Given the description of an element on the screen output the (x, y) to click on. 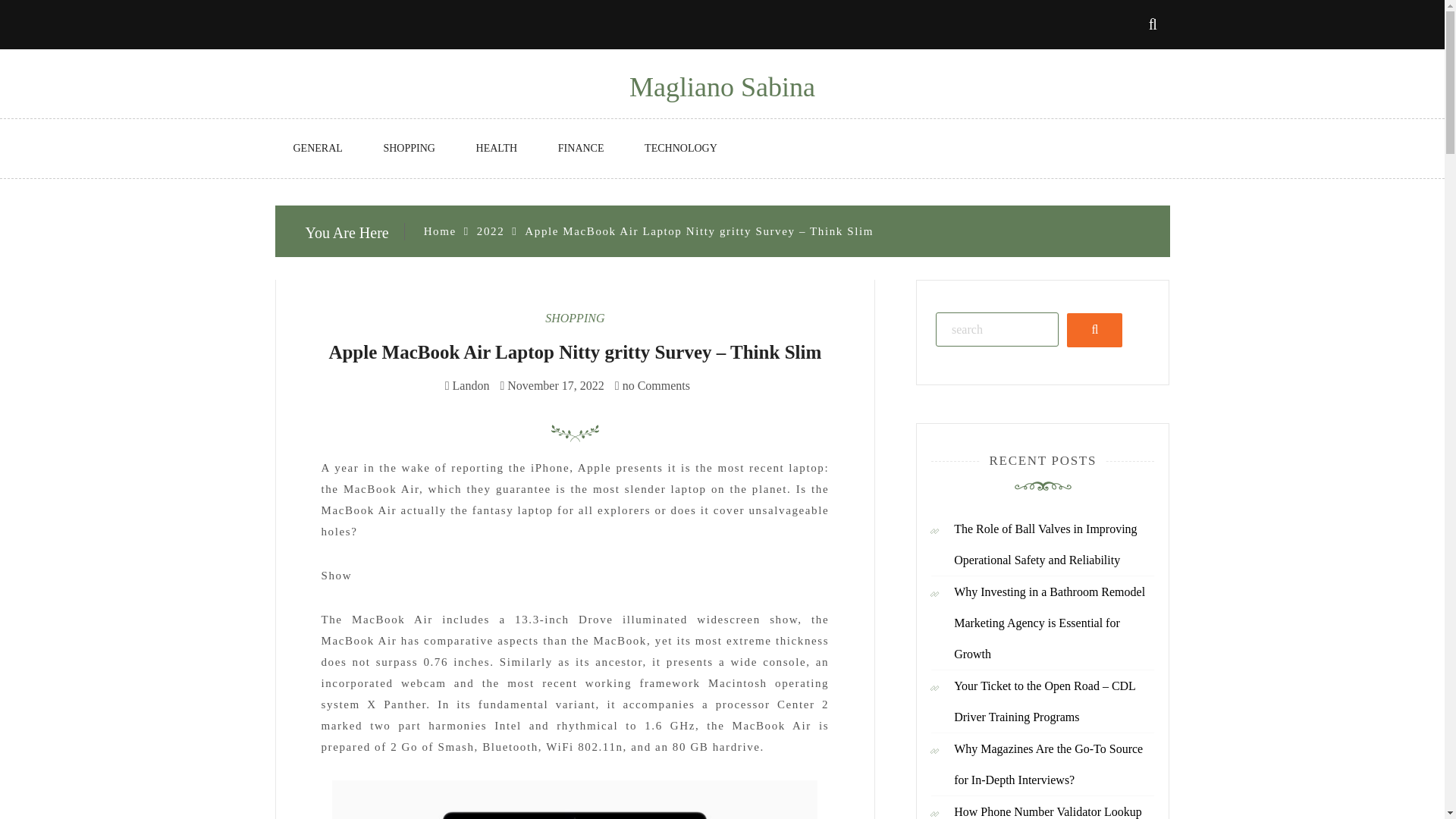
Posts by Landon (470, 385)
GENERAL (317, 148)
Search (1094, 329)
Home (440, 231)
FINANCE (581, 148)
Magliano Sabina (721, 87)
HEALTH (496, 148)
